Given the description of an element on the screen output the (x, y) to click on. 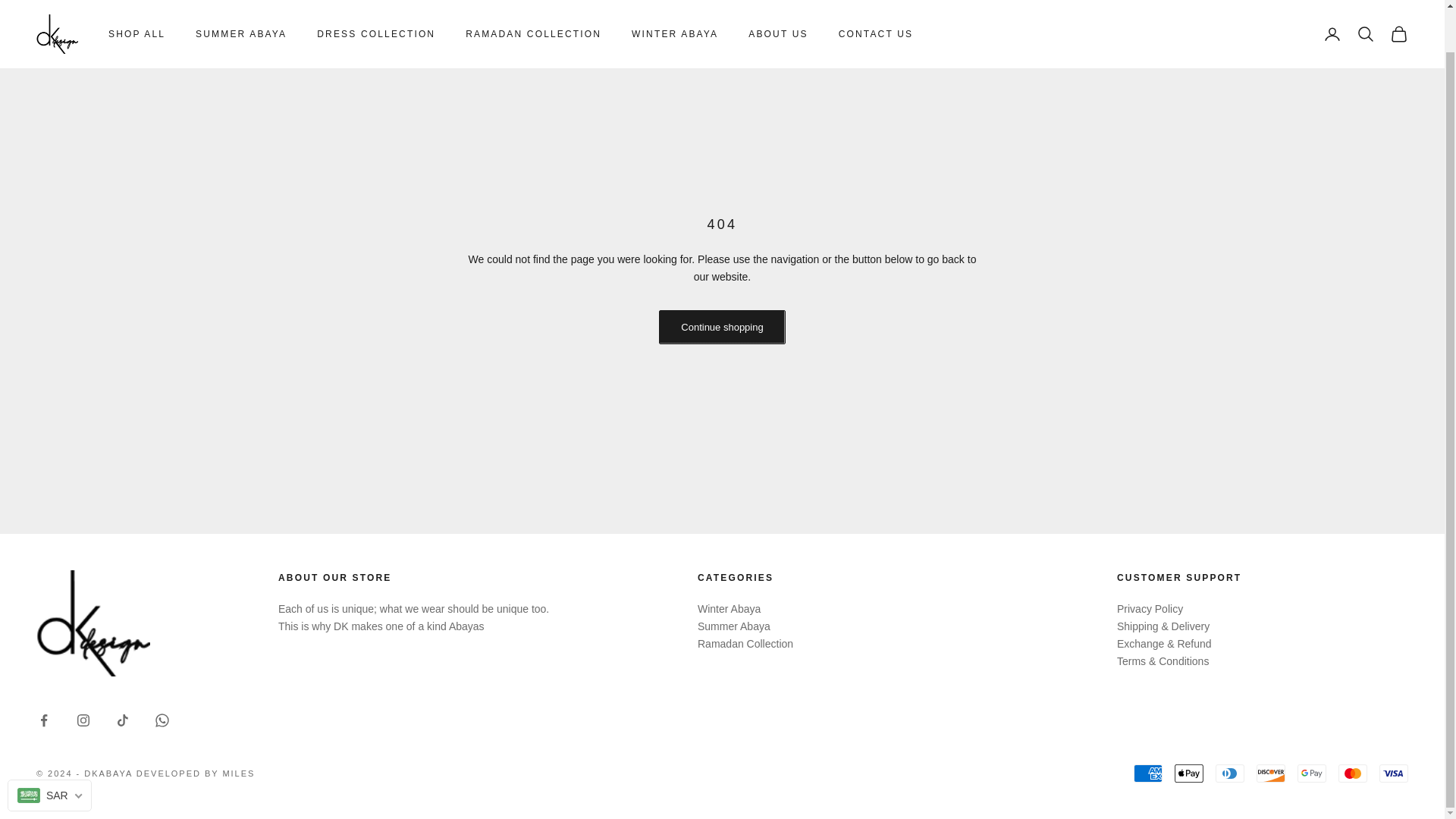
DEVELOPED BY MILES (195, 773)
Summer Abaya (733, 625)
Ramadan Collection (745, 644)
Winter Abaya (728, 608)
Privacy Policy (1149, 608)
Ramadan Collection (745, 644)
Continue shopping (721, 326)
DKABAYA (57, 4)
Privacy Policy (1149, 608)
Winter Abaya (728, 608)
